Given the description of an element on the screen output the (x, y) to click on. 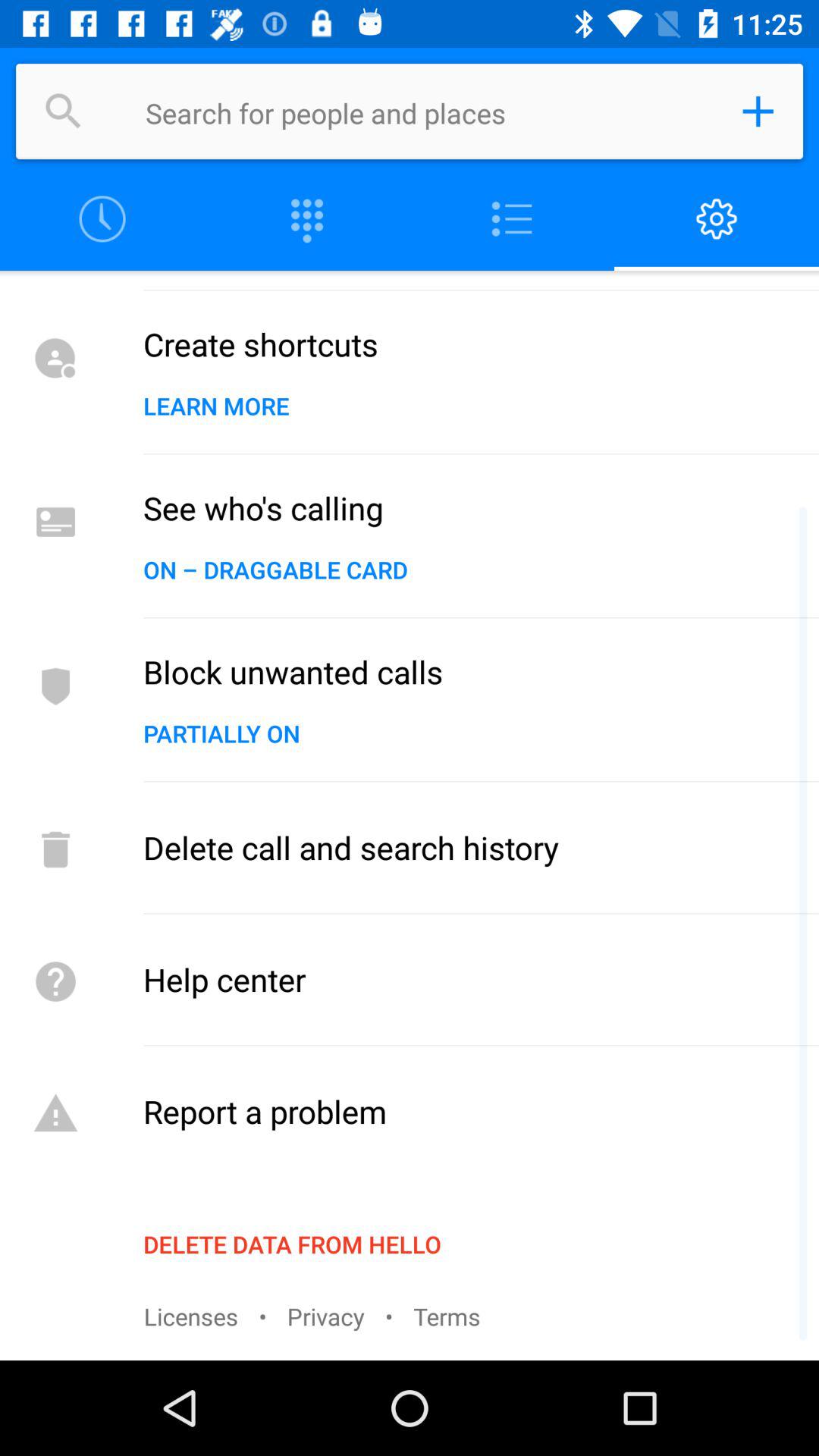
jump to delete data from item (292, 1244)
